Given the description of an element on the screen output the (x, y) to click on. 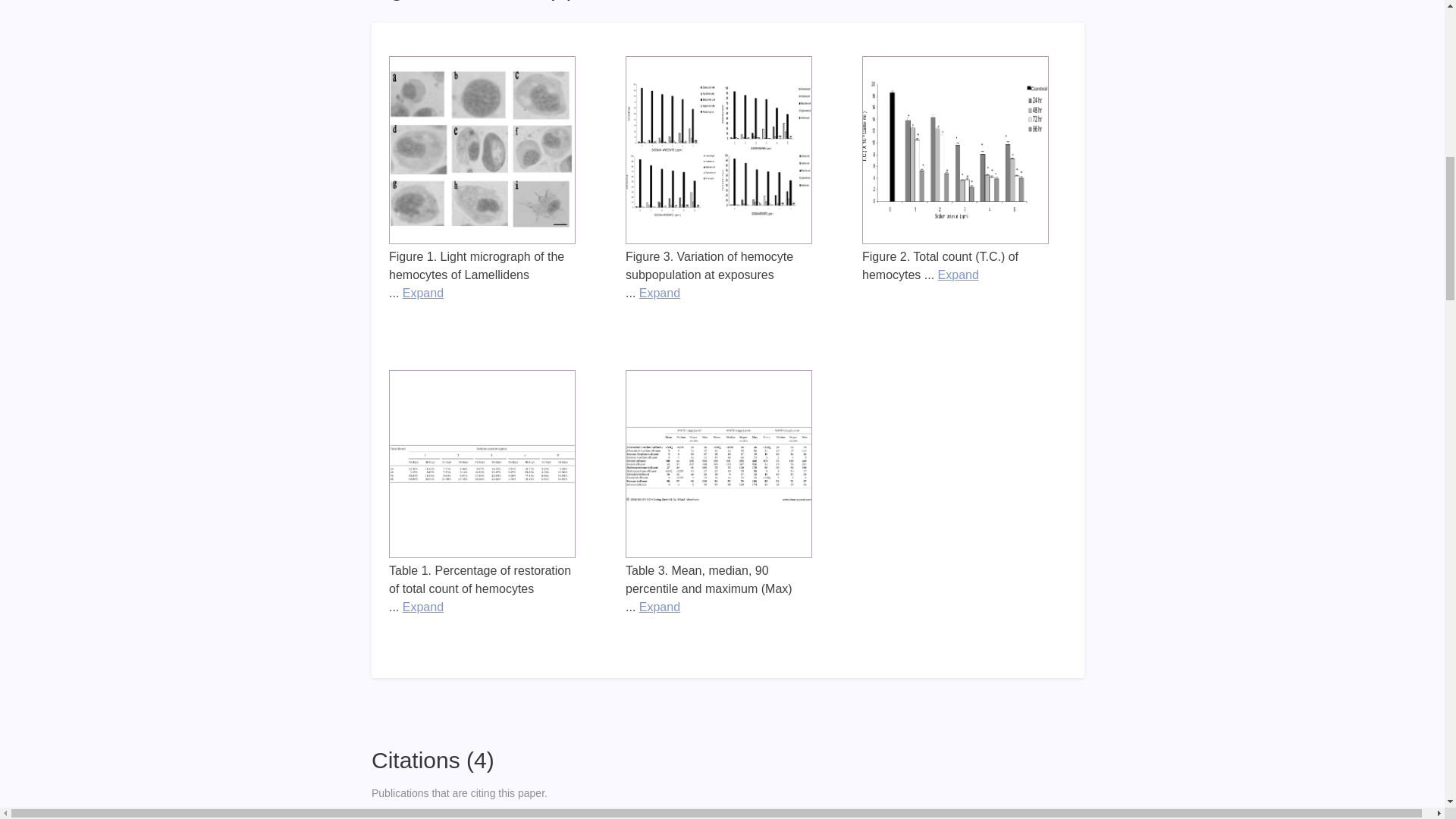
SORT BY RELEVANCE (1022, 814)
